Given the description of an element on the screen output the (x, y) to click on. 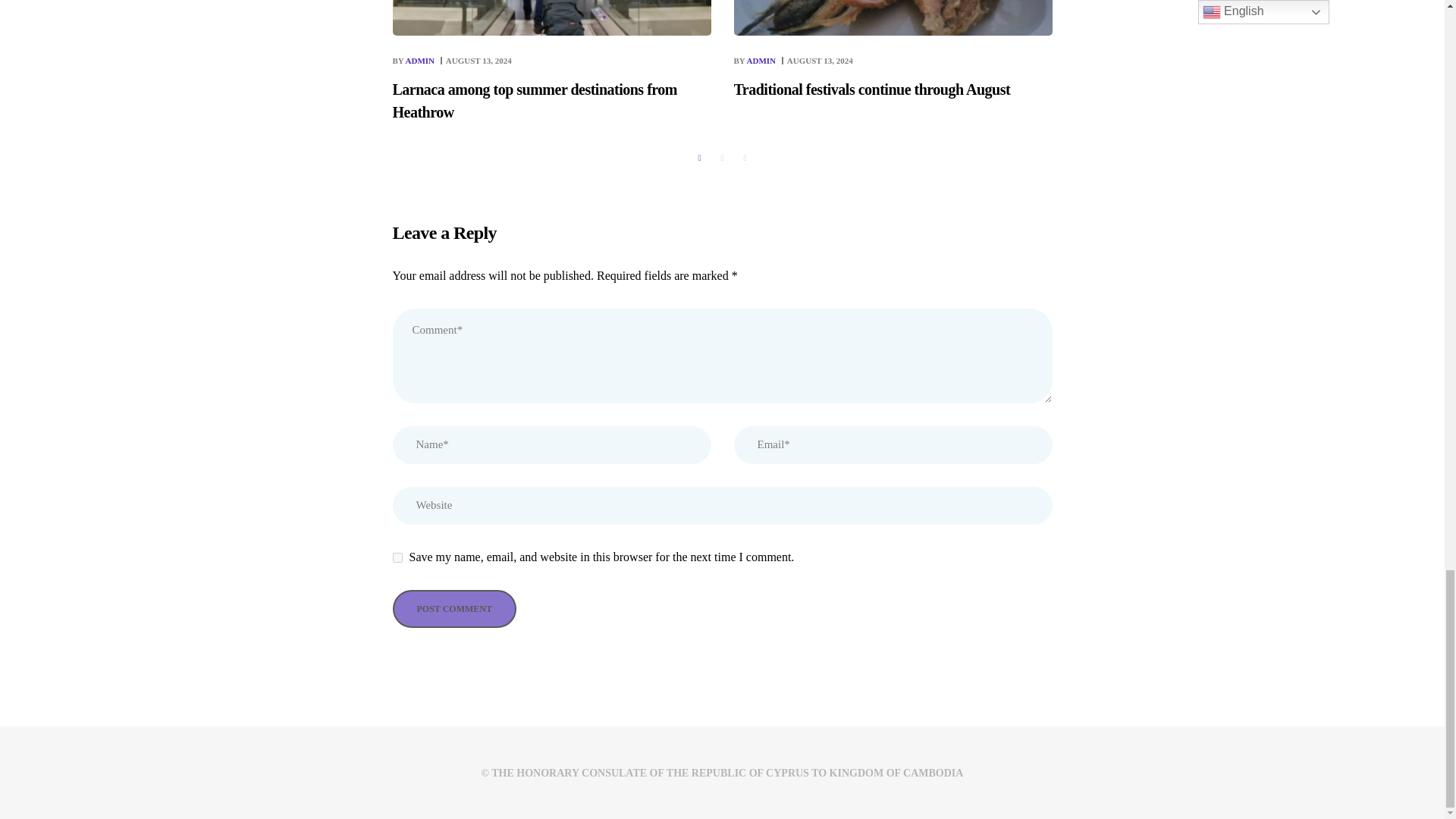
yes (398, 557)
BY ADMIN (414, 60)
Larnaca among top summer destinations from Heathrow (552, 100)
AUGUST 13, 2024 (478, 60)
Larnaca among top summer destinations from Heathrow (552, 100)
Larnaca among top summer destinations from Heathrow (478, 60)
Browse Author Articles (414, 60)
Larnaca among top summer destinations from Heathrow (552, 18)
Post Comment (454, 608)
